Given the description of an element on the screen output the (x, y) to click on. 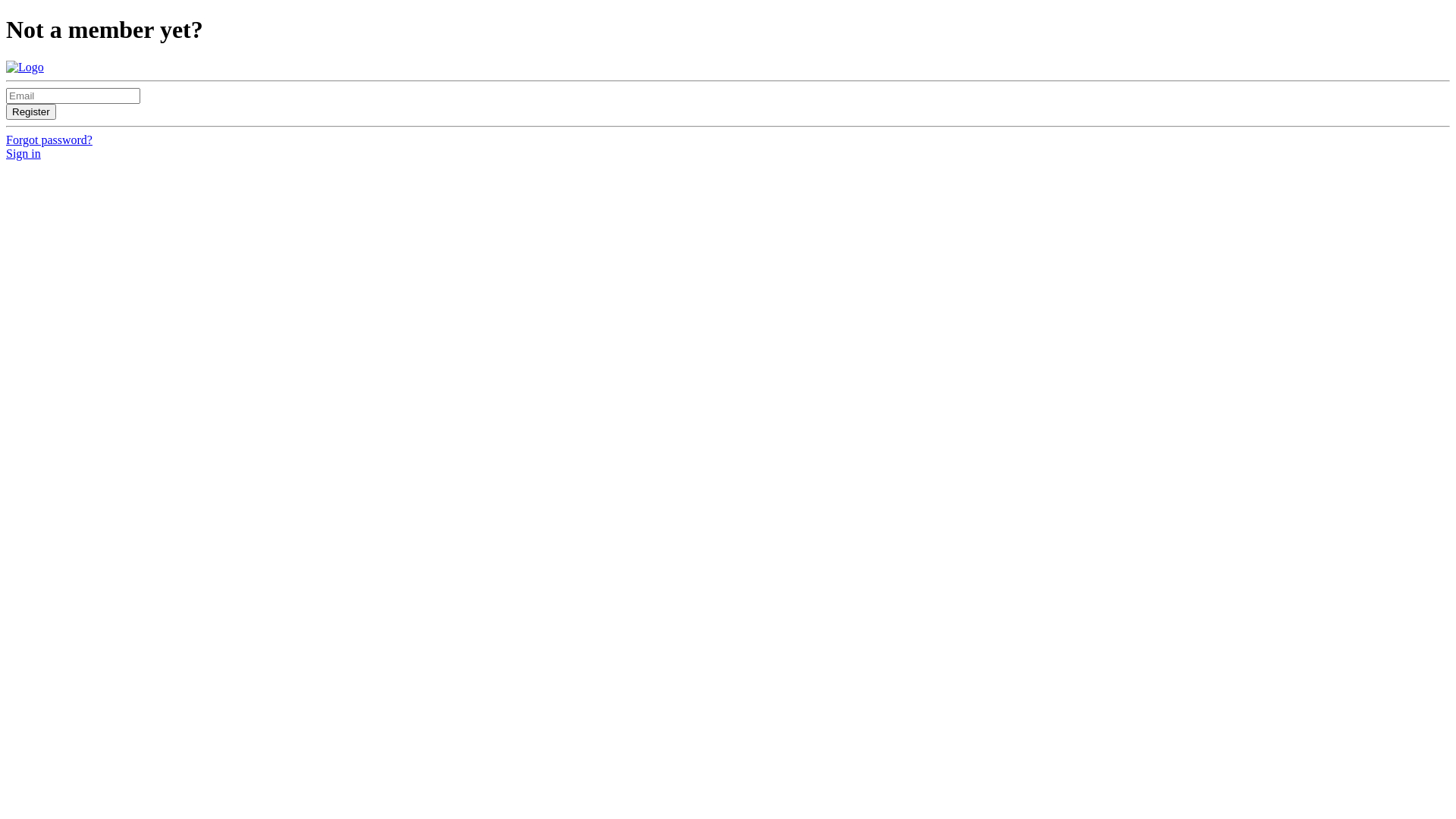
Register Element type: text (31, 111)
Sign in Element type: text (23, 153)
Forgot password? Element type: text (49, 139)
